Given the description of an element on the screen output the (x, y) to click on. 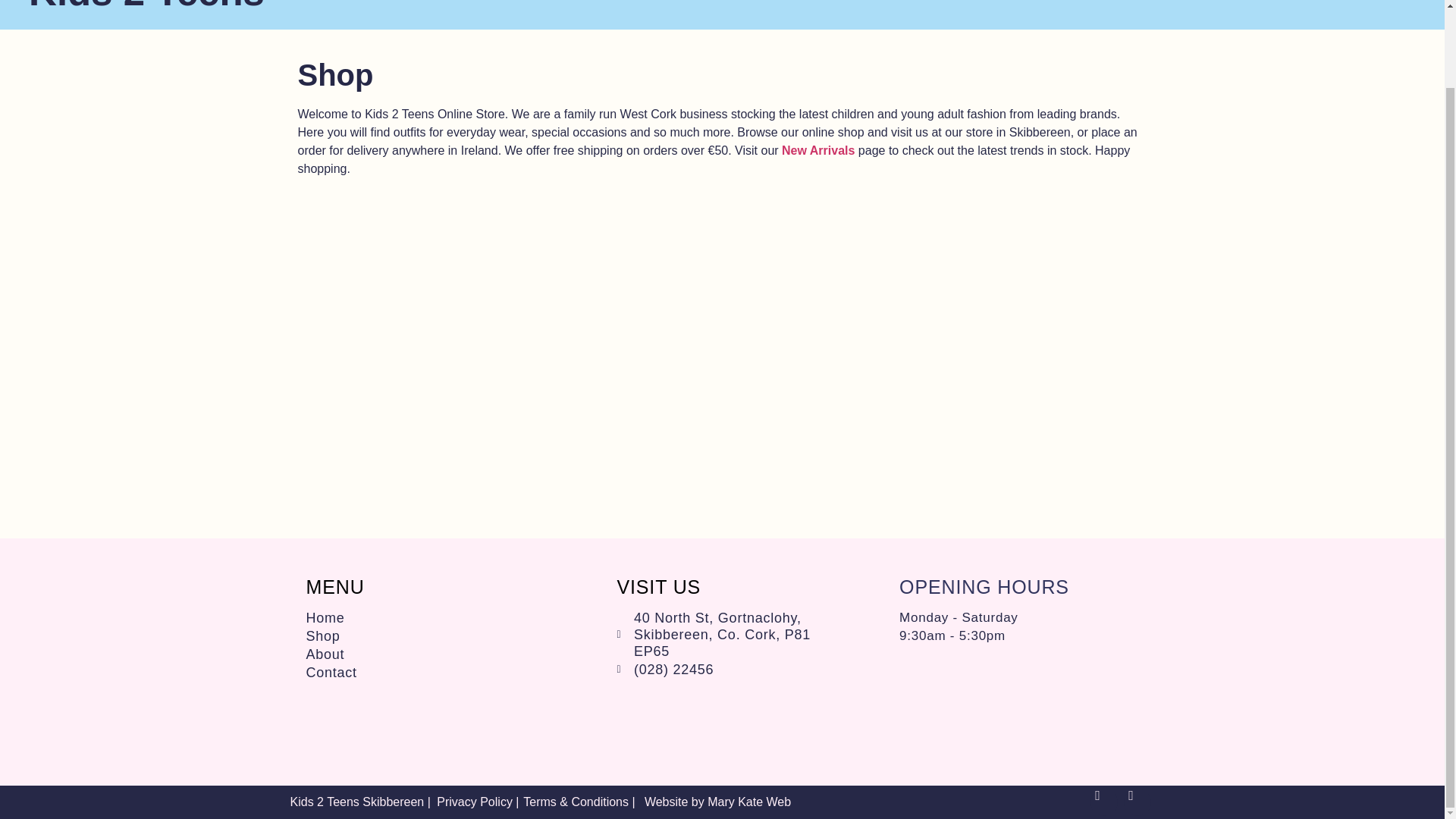
Home (1001, 14)
Kids 2 Teens (146, 6)
Shop (1075, 14)
